Given the description of an element on the screen output the (x, y) to click on. 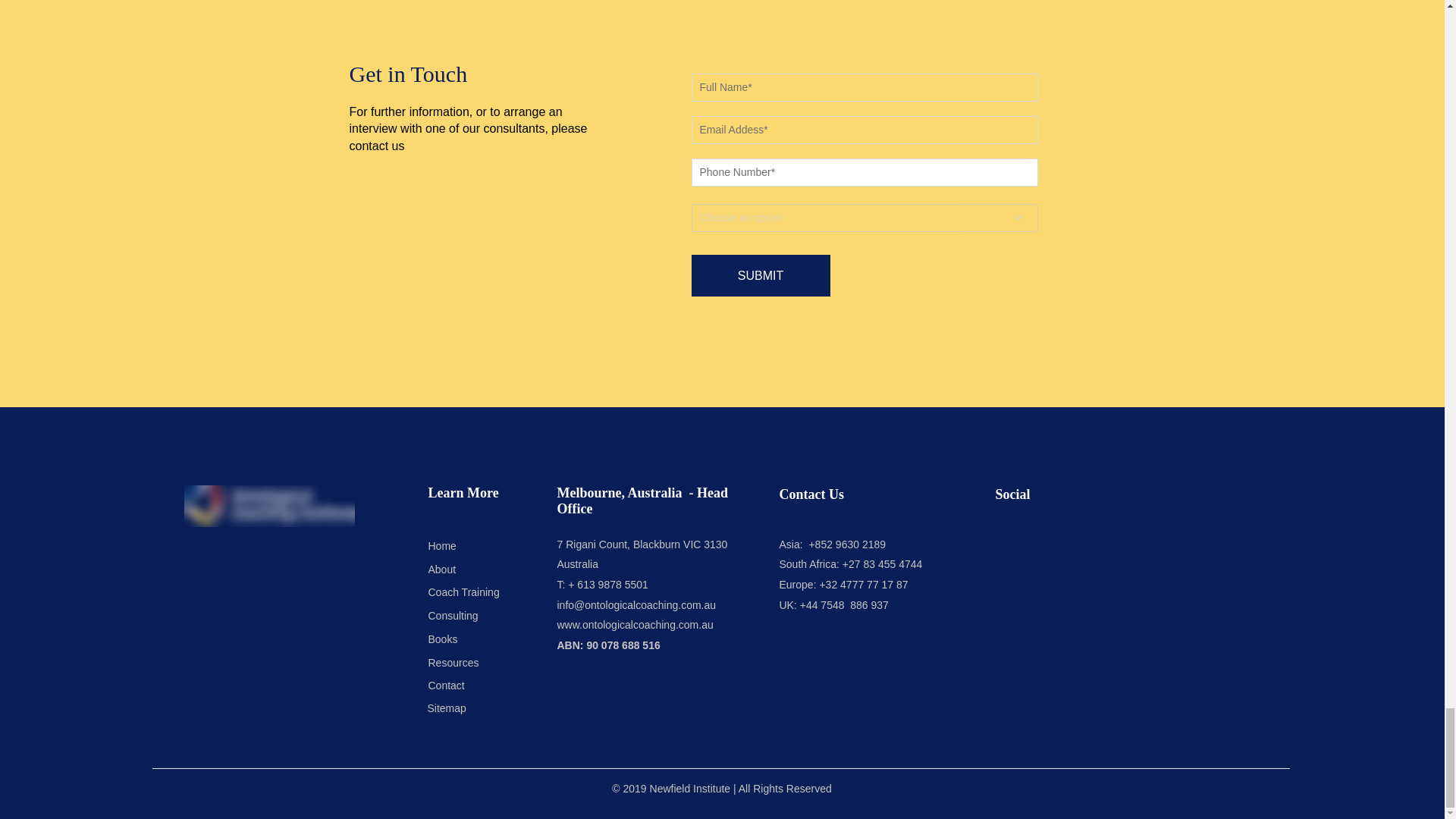
Consulting (484, 615)
Resources (478, 662)
Books (478, 639)
logo header.png (268, 506)
Home (478, 545)
Coach Training (478, 591)
SUBMIT (760, 275)
About (478, 568)
